Given the description of an element on the screen output the (x, y) to click on. 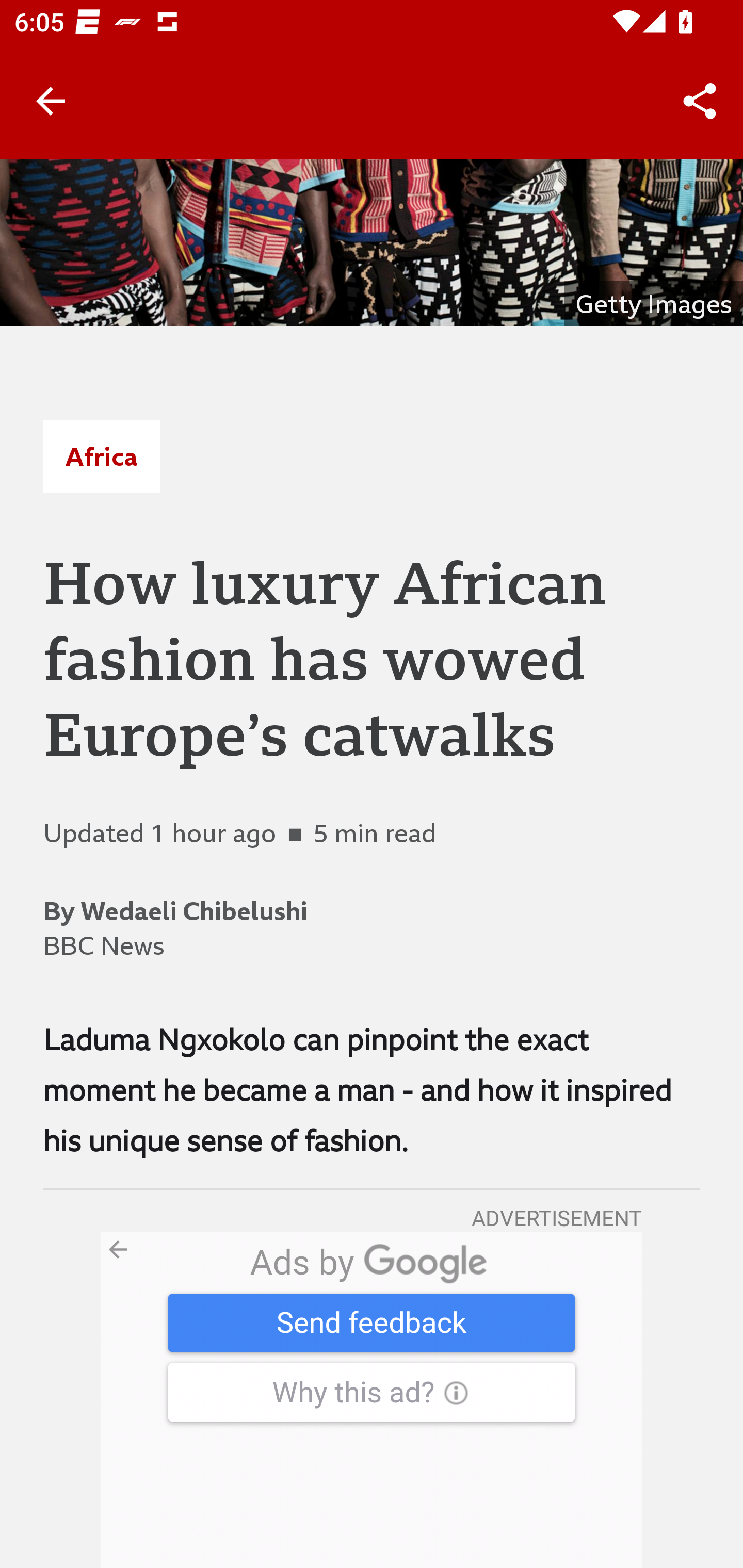
Back (50, 101)
Share (699, 101)
Africa (101, 456)
Advertisement (371, 1400)
